Given the description of an element on the screen output the (x, y) to click on. 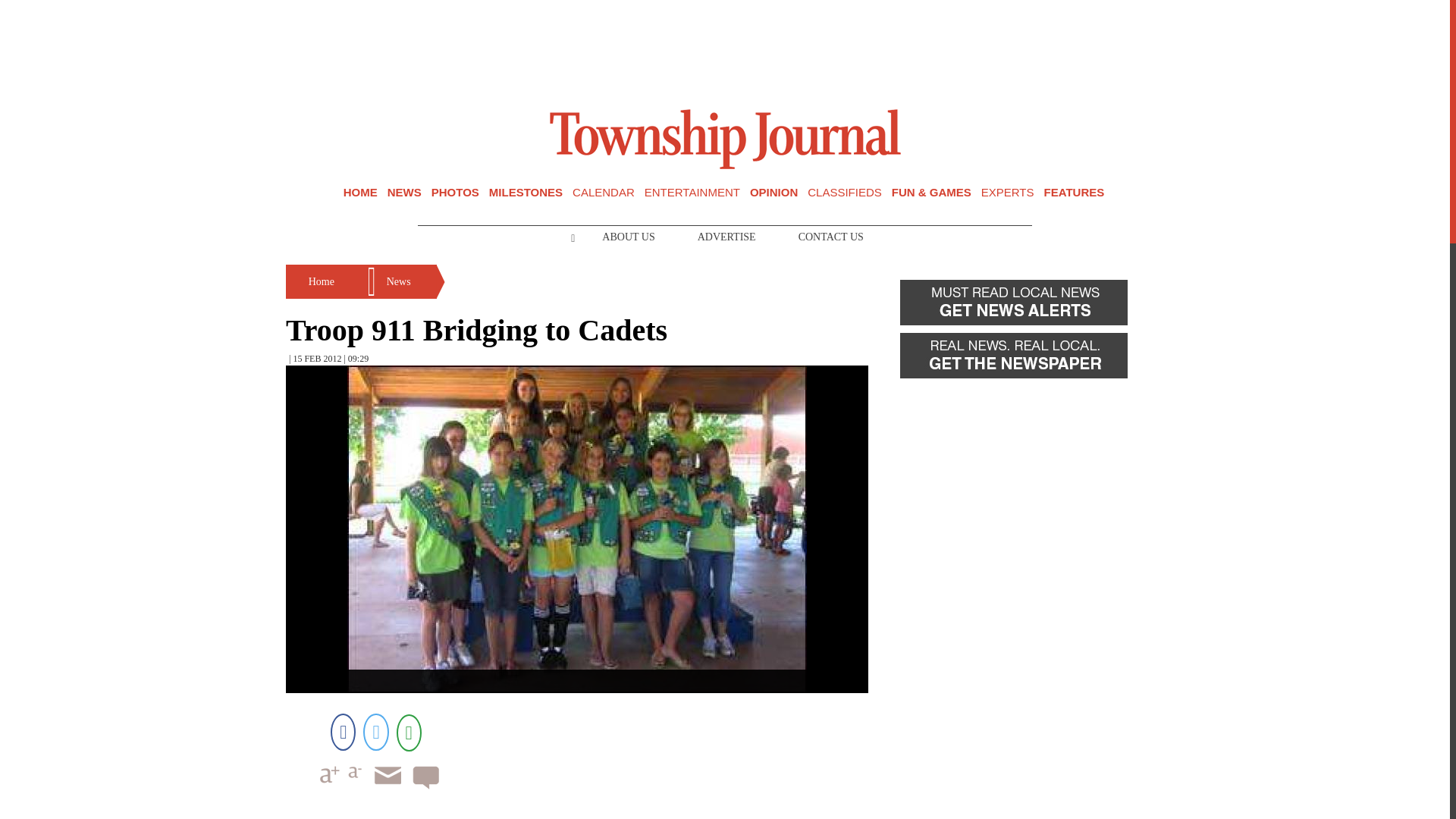
PHOTOS (454, 192)
MILESTONES (525, 192)
CALENDAR (603, 192)
EXPERTS (1007, 192)
3rd party ad content (724, 49)
ENTERTAINMENT (692, 192)
NEWS (404, 192)
OPINION (773, 192)
HOME (360, 192)
FEATURES (1074, 192)
